Given the description of an element on the screen output the (x, y) to click on. 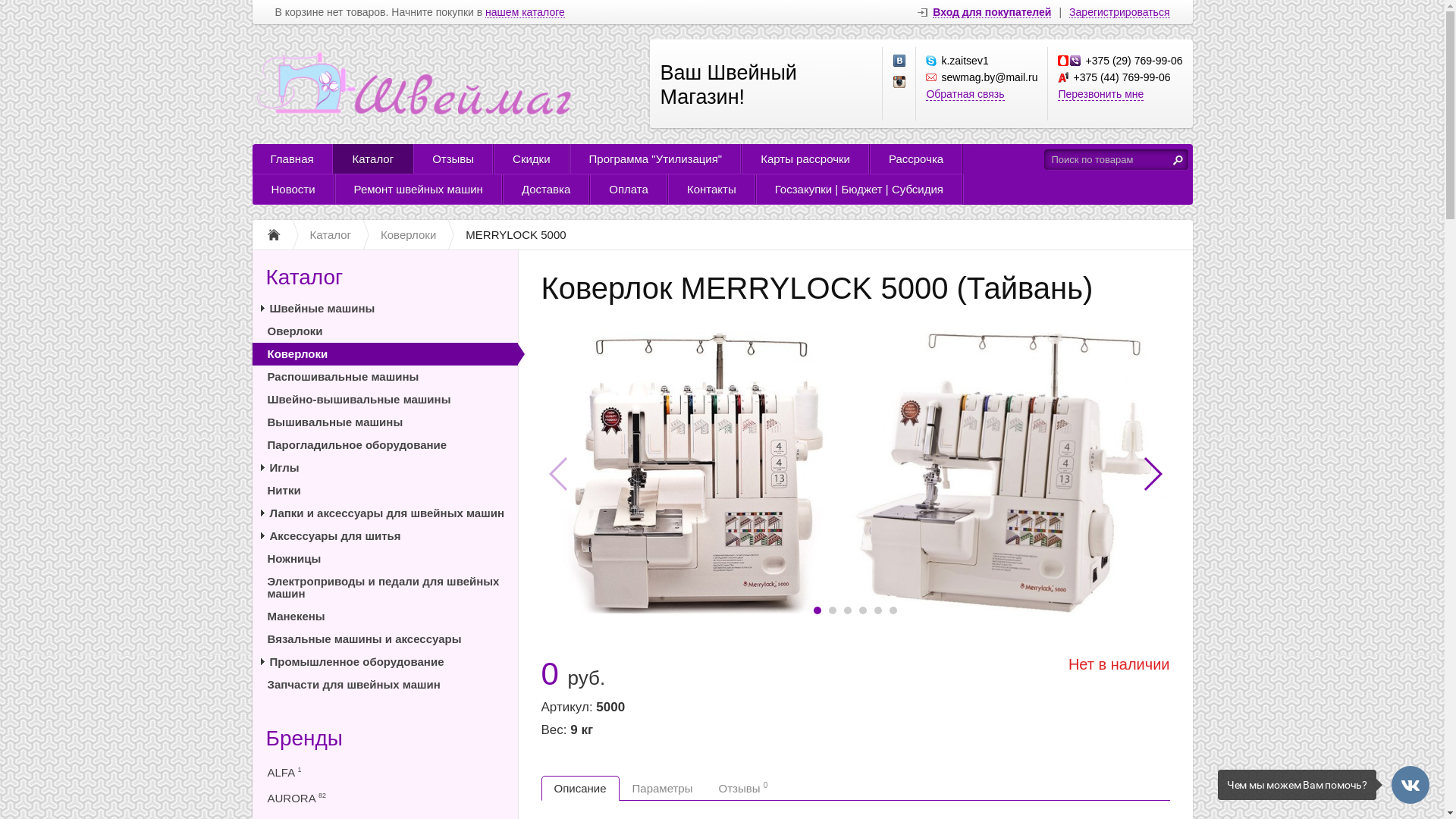
ALFA 1 Element type: text (384, 771)
AURORA 82 Element type: text (384, 796)
  Element type: text (1177, 159)
